Given the description of an element on the screen output the (x, y) to click on. 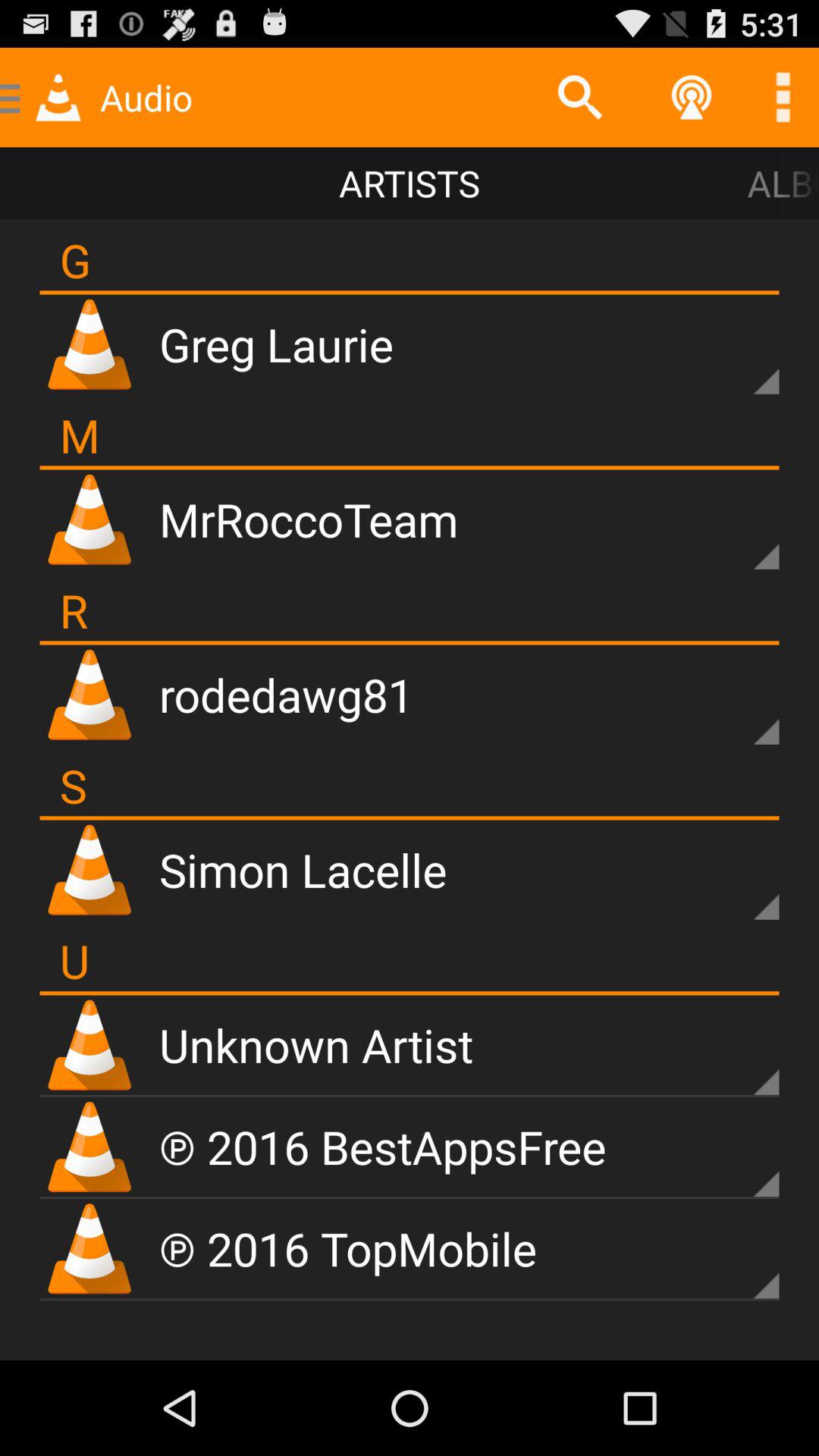
open options (783, 97)
